Given the description of an element on the screen output the (x, y) to click on. 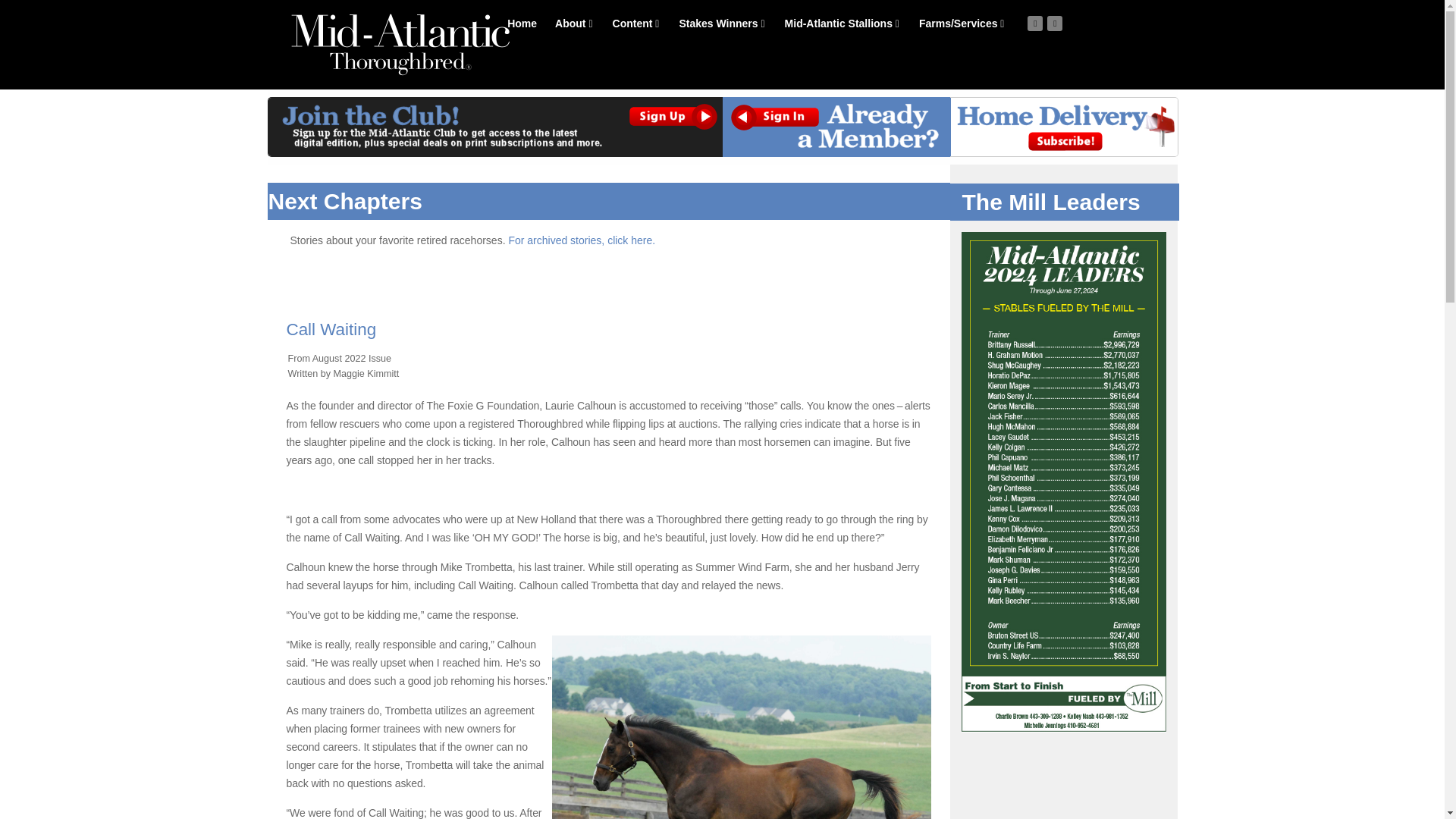
Content (636, 22)
About (573, 22)
Stakes Winners (721, 22)
Home (521, 22)
Mid-Atlantic Stallions (842, 22)
